Given the description of an element on the screen output the (x, y) to click on. 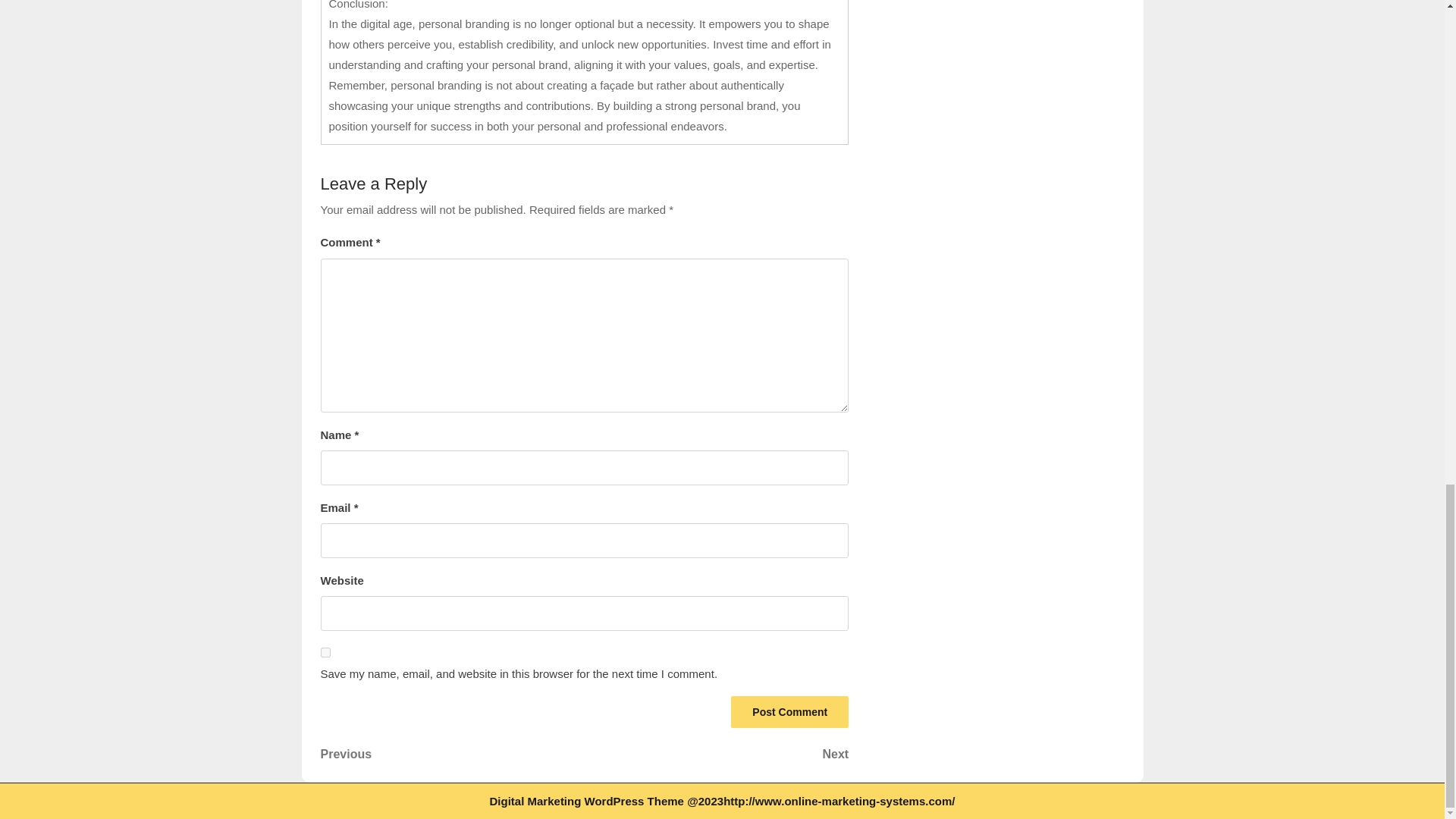
yes (325, 652)
Digital Marketing WordPress Theme (586, 800)
Post Comment (789, 712)
Post Comment (716, 754)
